Given the description of an element on the screen output the (x, y) to click on. 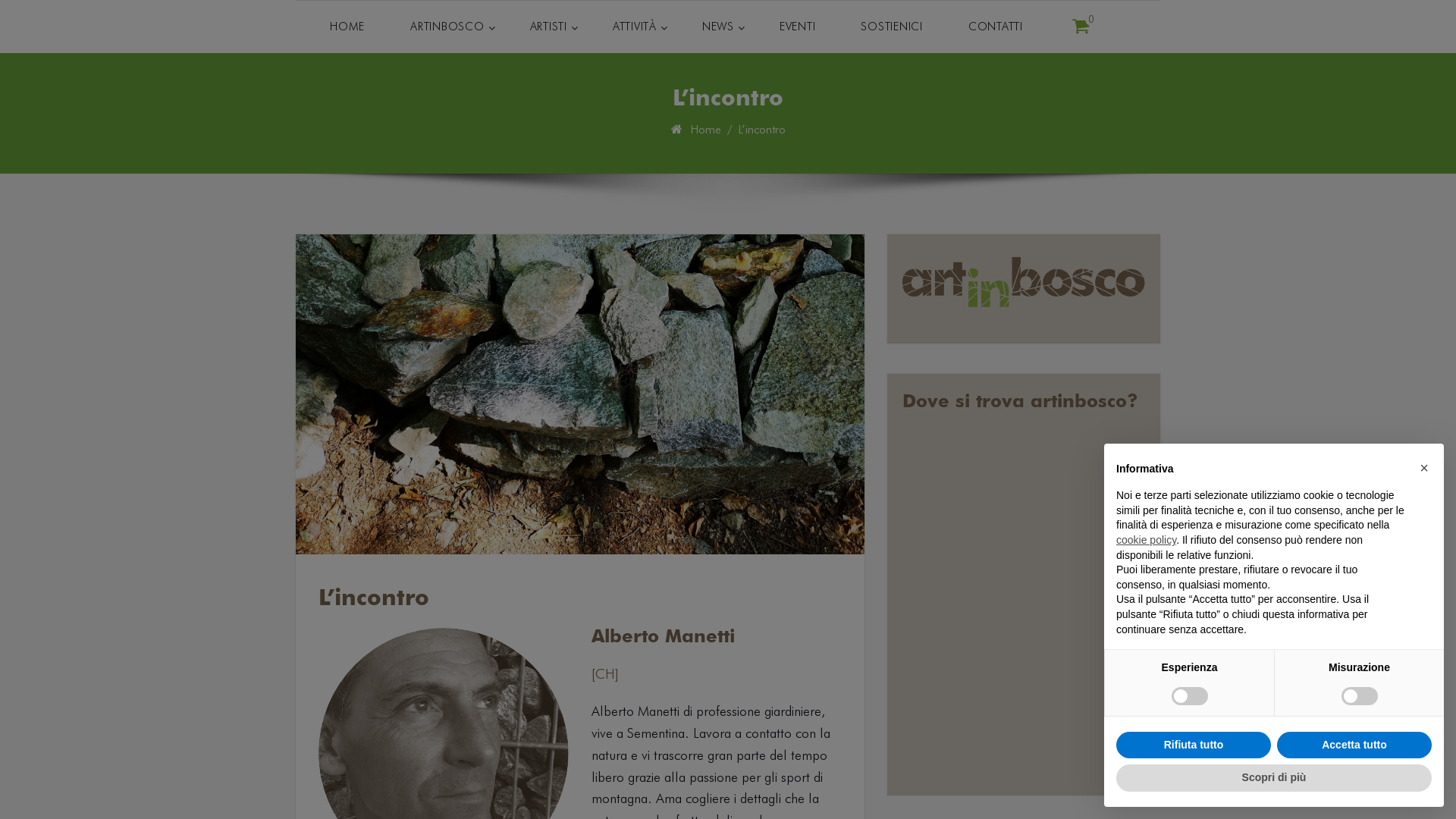
ARTISTI Element type: text (547, 26)
HOME Element type: text (346, 26)
SOSTIENICI Element type: text (891, 26)
EVENTI Element type: text (797, 26)
Accetta tutto Element type: text (1354, 745)
NEWS Element type: text (718, 26)
cookie policy Element type: text (1146, 539)
CONTATTI Element type: text (995, 26)
ARTINBOSCO Element type: text (447, 26)
0 Element type: text (1081, 26)
Home Element type: text (706, 129)
Rifiuta tutto Element type: text (1193, 745)
